Given the description of an element on the screen output the (x, y) to click on. 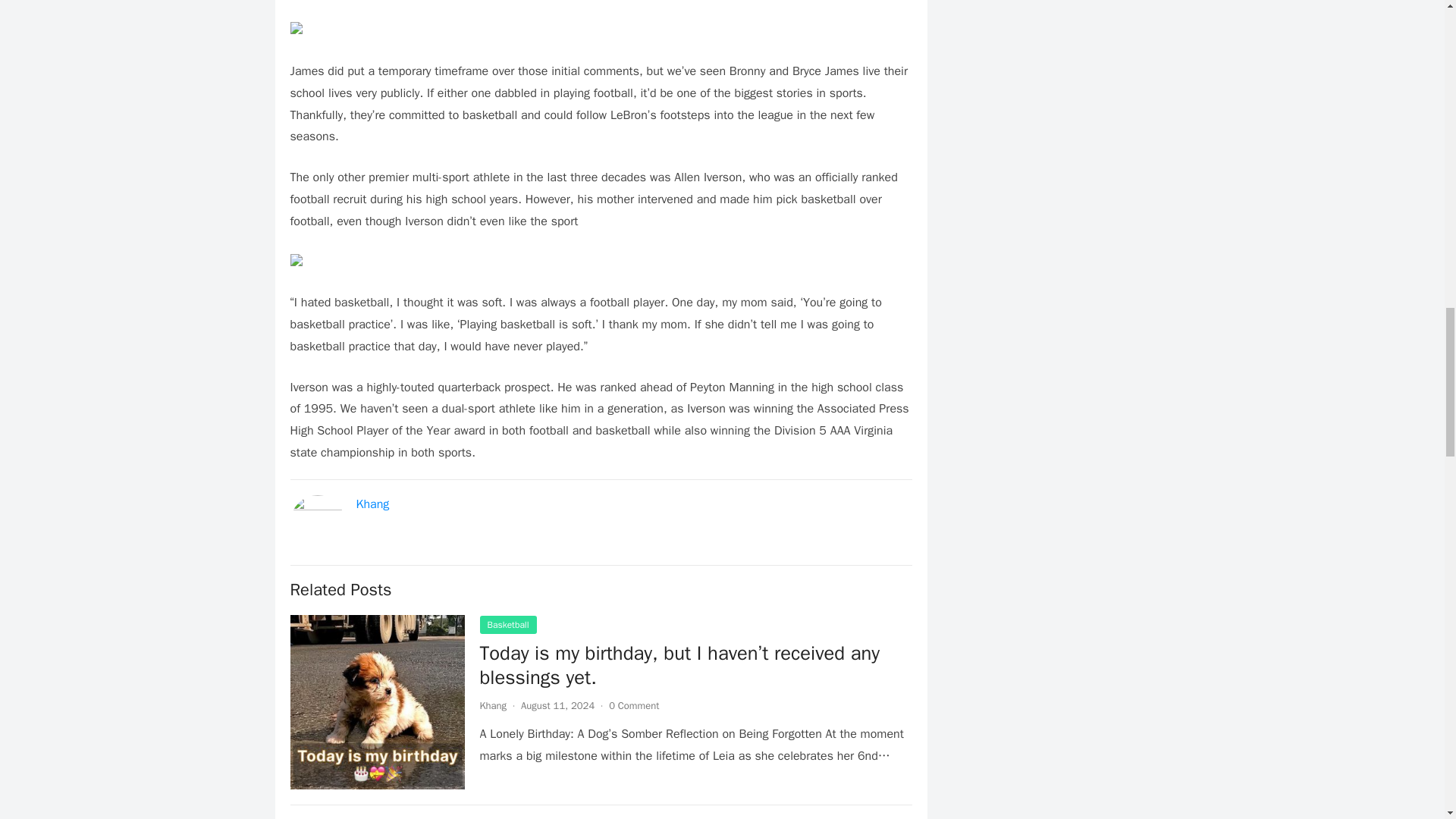
0 Comment (633, 705)
Khang (492, 705)
Khang (373, 503)
Basketball (507, 624)
Posts by Khang (492, 705)
